Given the description of an element on the screen output the (x, y) to click on. 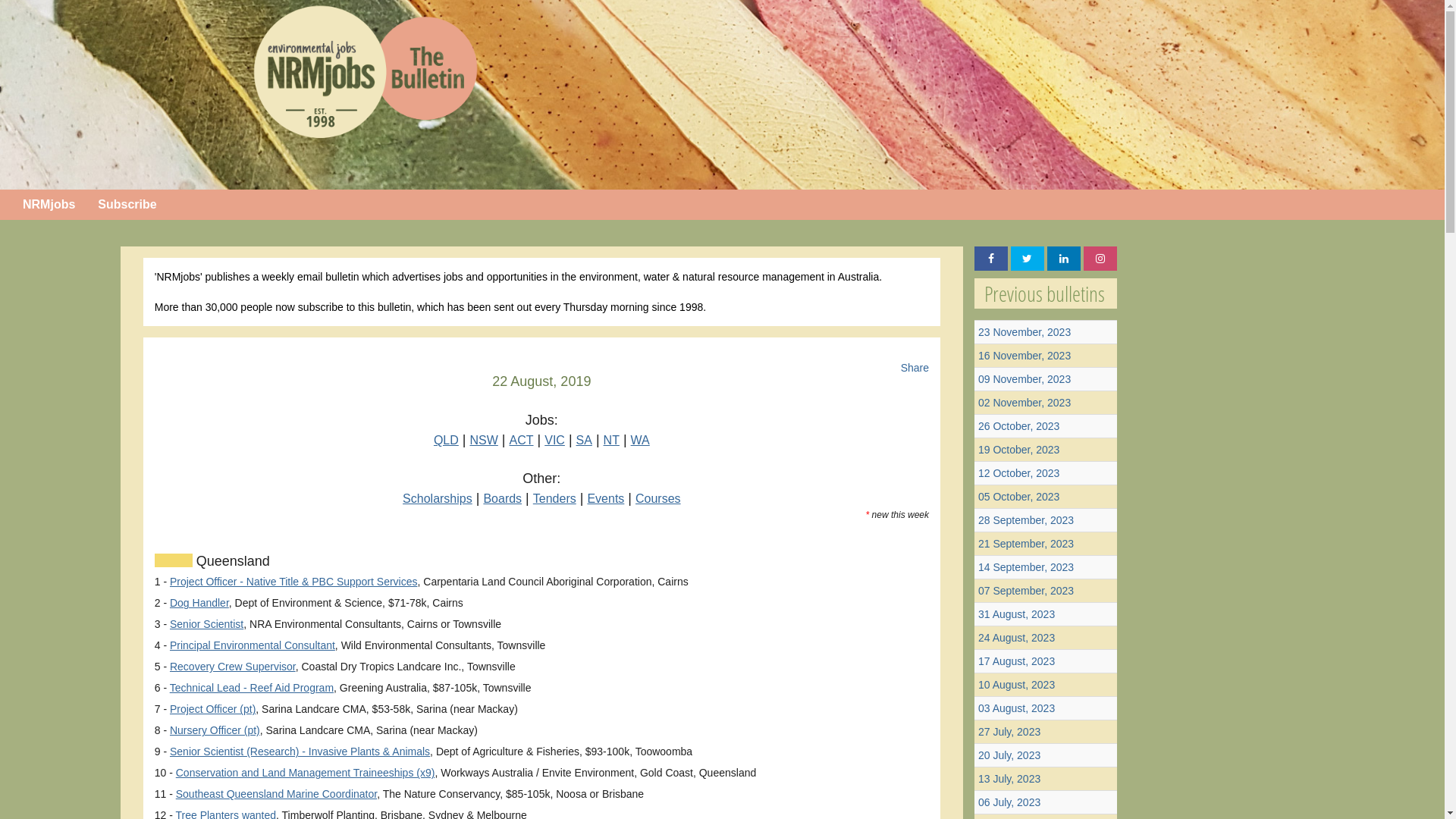
24 August, 2023 Element type: text (1016, 637)
31 August, 2023 Element type: text (1016, 614)
27 July, 2023 Element type: text (1009, 731)
26 October, 2023 Element type: text (1018, 426)
23 November, 2023 Element type: text (1024, 332)
ACT Element type: text (521, 439)
Nursery Officer (pt) Element type: text (214, 730)
Senior Scientist (Research) - Invasive Plants & Animals Element type: text (299, 751)
06 July, 2023 Element type: text (1009, 802)
Southeast Queensland Marine Coordinator Element type: text (275, 793)
28 September, 2023 Element type: text (1025, 520)
12 October, 2023 Element type: text (1018, 473)
Queensland Element type: text (230, 560)
Project Officer - Native Title & PBC Support Services Element type: text (293, 581)
Subscribe Element type: text (126, 204)
NT Element type: text (611, 439)
WA Element type: text (639, 439)
03 August, 2023 Element type: text (1016, 708)
Senior Scientist Element type: text (206, 624)
QLD Element type: text (445, 439)
Boards Element type: text (502, 498)
21 September, 2023 Element type: text (1025, 543)
Conservation and Land Management Traineeships (x9) Element type: text (305, 772)
Recovery Crew Supervisor Element type: text (232, 666)
Project Officer (pt) Element type: text (212, 708)
13 July, 2023 Element type: text (1009, 778)
SA Element type: text (584, 439)
16 November, 2023 Element type: text (1024, 355)
Share Element type: text (914, 367)
10 August, 2023 Element type: text (1016, 684)
NSW Element type: text (484, 439)
20 July, 2023 Element type: text (1009, 755)
19 October, 2023 Element type: text (1018, 449)
Scholarships Element type: text (437, 498)
VIC Element type: text (554, 439)
17 August, 2023 Element type: text (1016, 661)
09 November, 2023 Element type: text (1024, 379)
Dog Handler Element type: text (199, 602)
Principal Environmental Consultant Element type: text (252, 645)
02 November, 2023 Element type: text (1024, 402)
Tenders Element type: text (554, 498)
07 September, 2023 Element type: text (1025, 590)
Courses Element type: text (657, 498)
14 September, 2023 Element type: text (1025, 567)
Events Element type: text (605, 498)
05 October, 2023 Element type: text (1018, 496)
NRMjobs Element type: text (48, 204)
Technical Lead - Reef Aid Program Element type: text (251, 687)
